Given the description of an element on the screen output the (x, y) to click on. 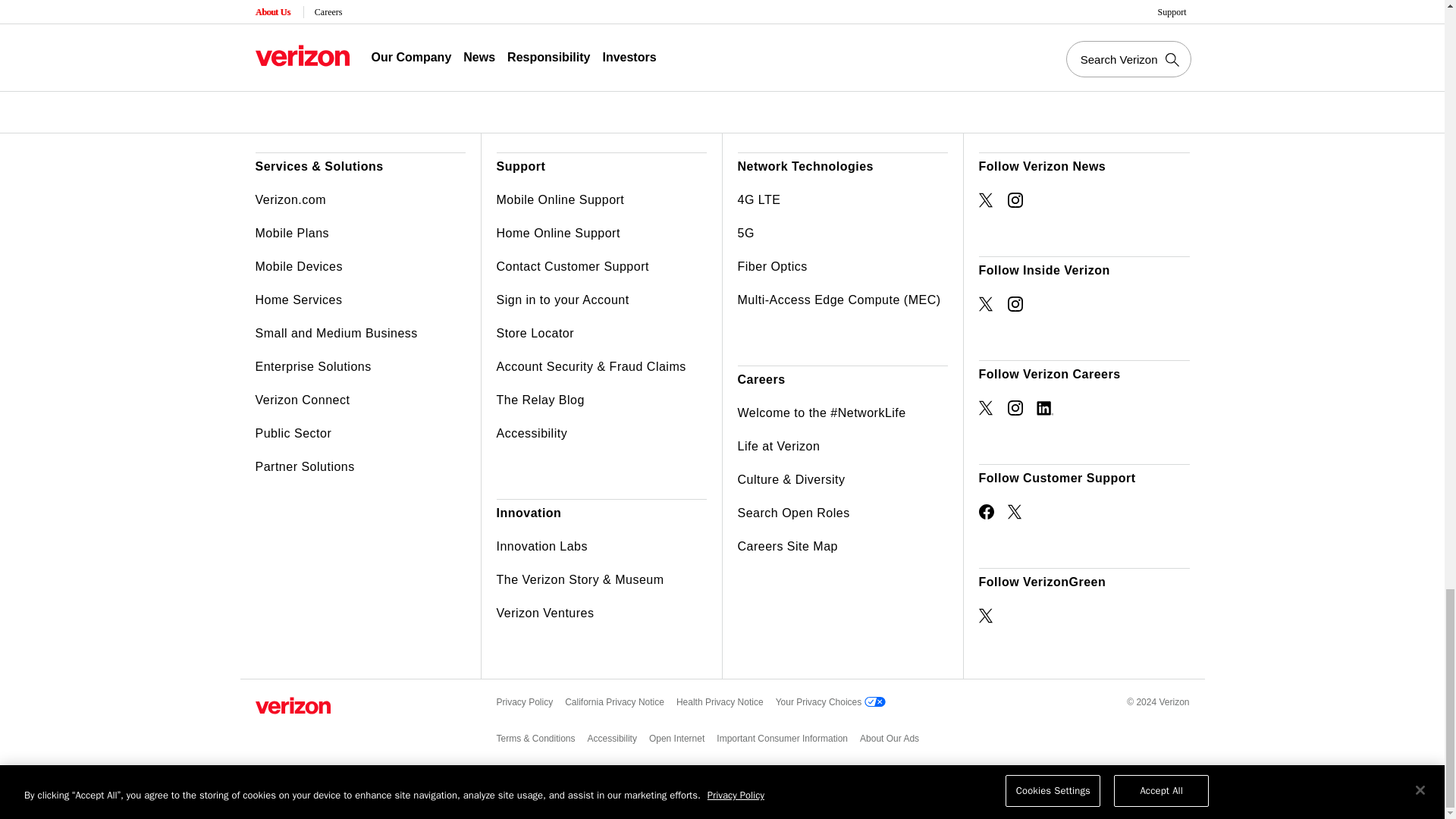
Opens New Window (1043, 407)
Opens New Window (1014, 511)
Opens New Window (985, 304)
Opens New Window (985, 200)
Opens New Window (985, 407)
Verizon Home Page (292, 705)
Opens New Window (985, 511)
Opens New Window (1014, 200)
Opens New Window (1014, 304)
Opens New Window (985, 615)
Opens New Window (1014, 407)
